Given the description of an element on the screen output the (x, y) to click on. 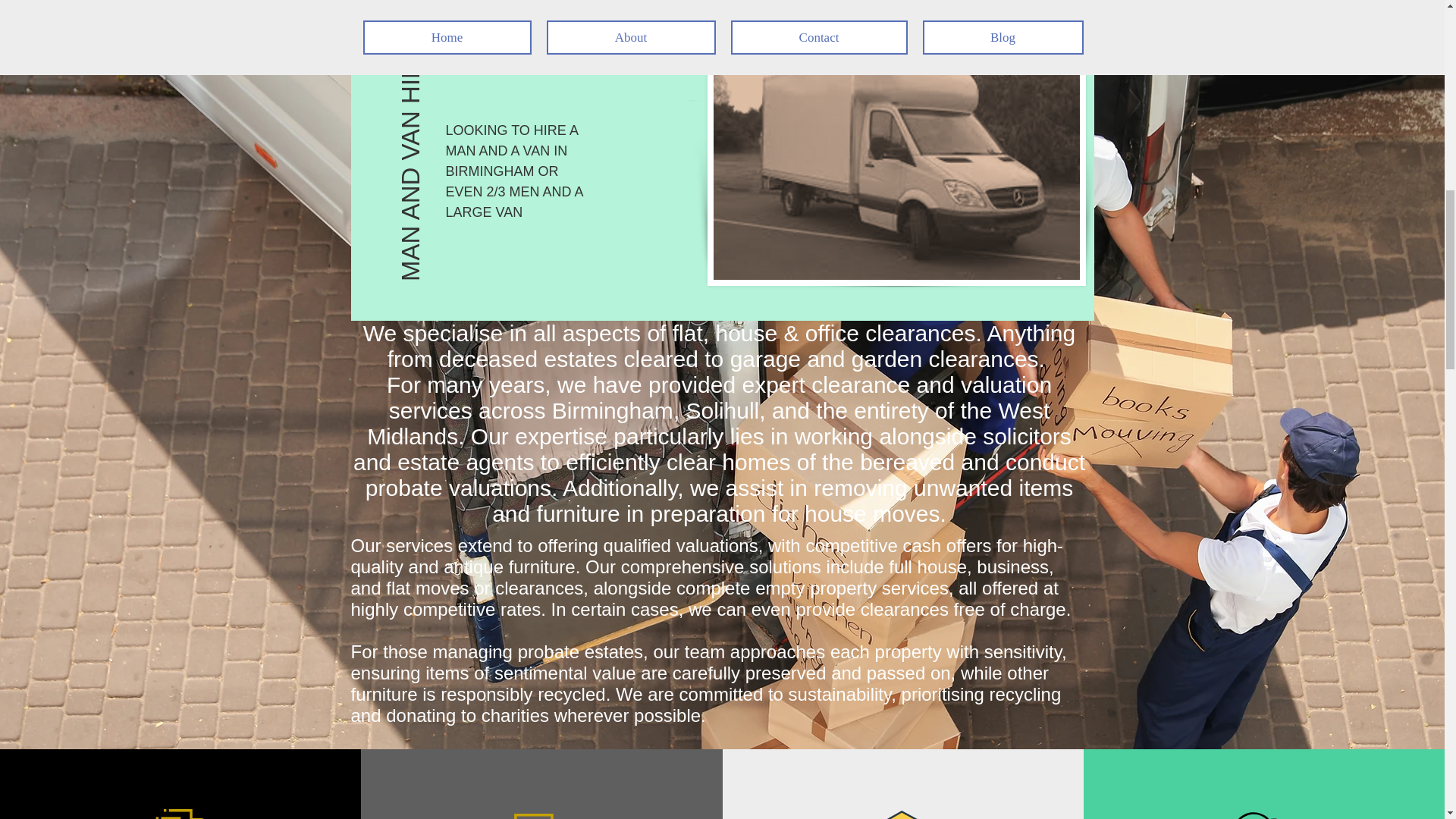
house clearance and office clearance company in birmingham (895, 147)
